Given the description of an element on the screen output the (x, y) to click on. 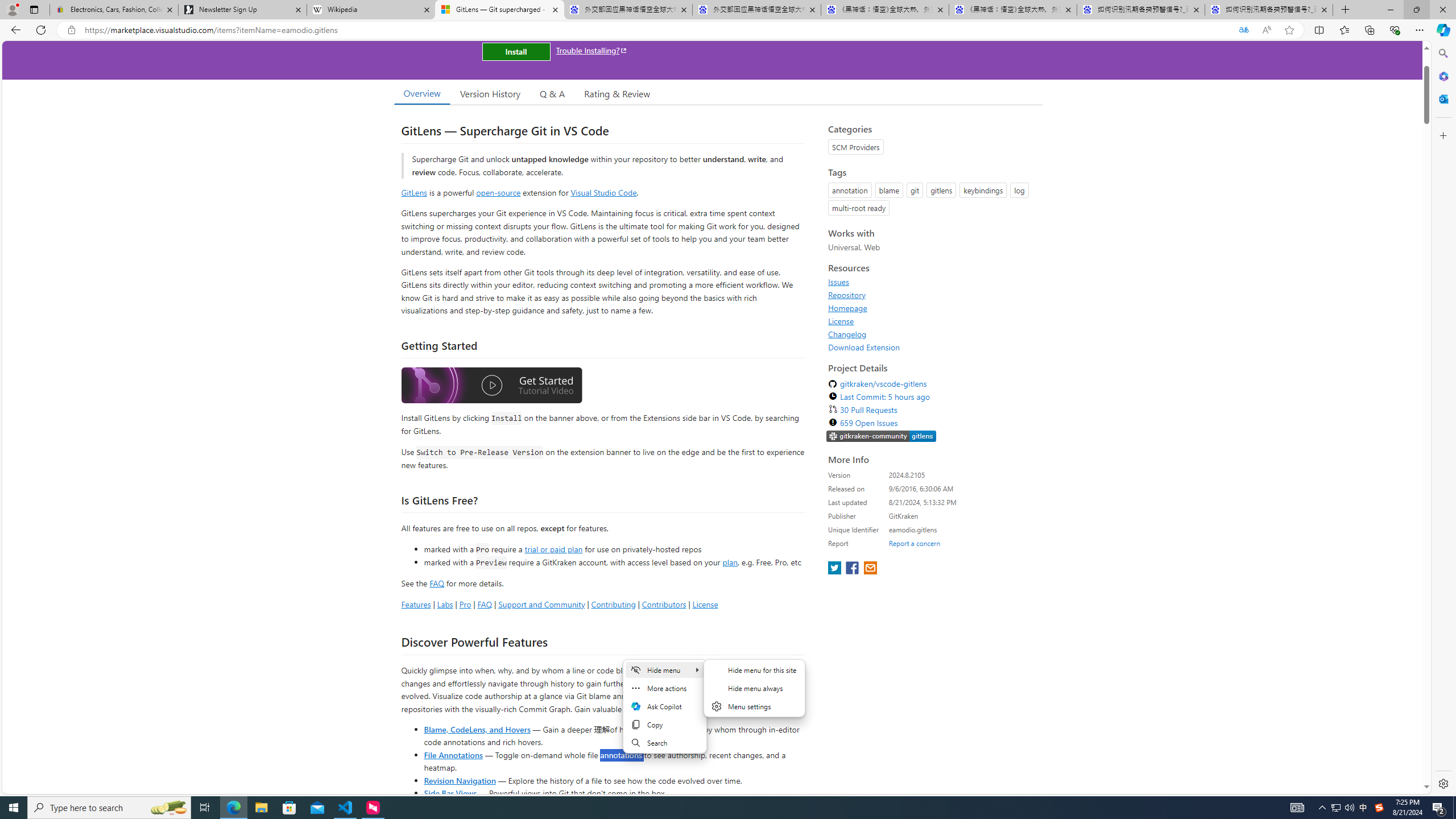
Menu settings (754, 705)
Hide menu always (754, 687)
Rating & Review (618, 92)
FAQ (484, 603)
Hide menu for this site (754, 669)
Changelog (847, 333)
File Annotations (453, 754)
